Given the description of an element on the screen output the (x, y) to click on. 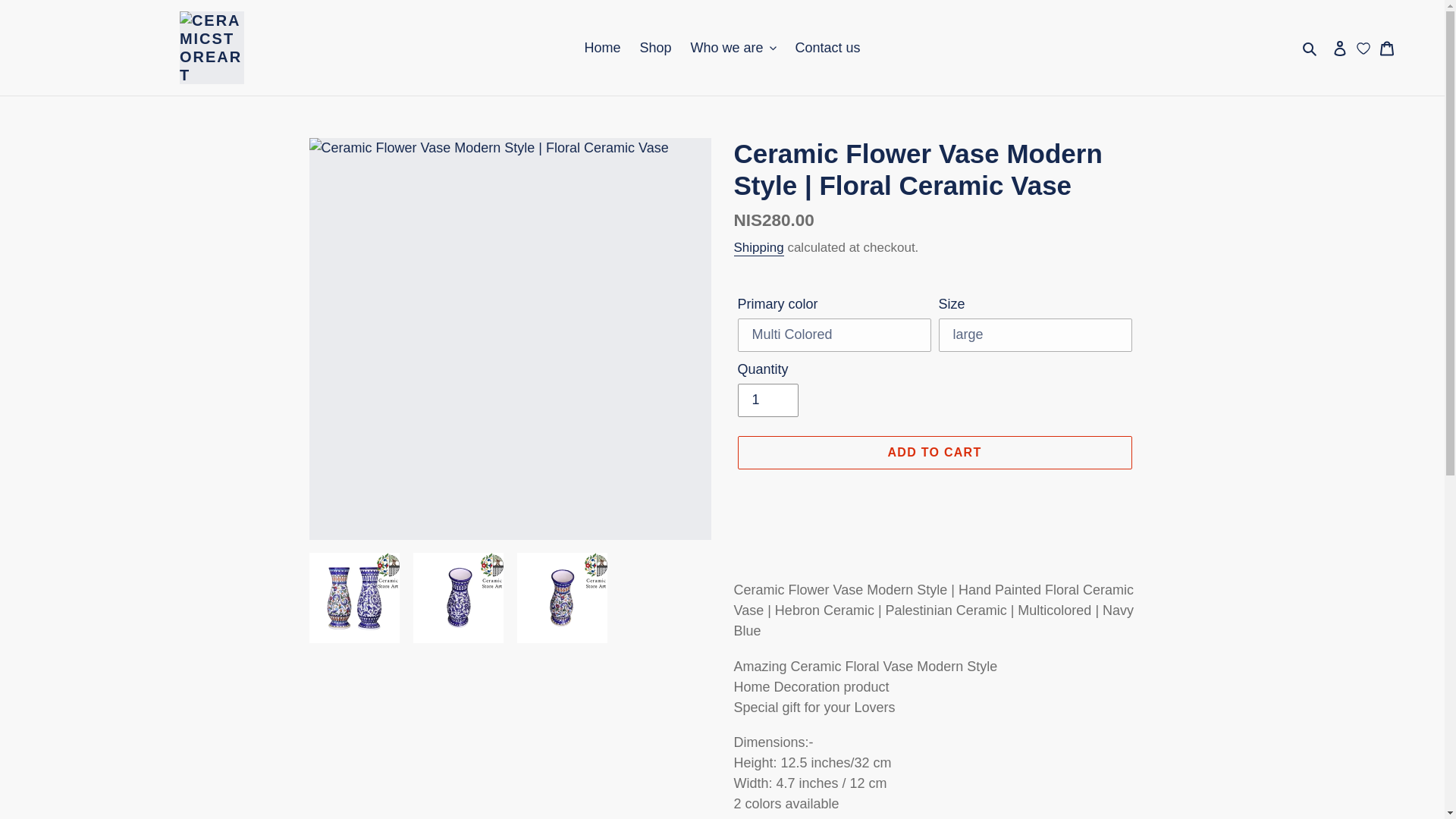
Search (1310, 47)
Log in (1339, 48)
Cart (1387, 48)
Who we are (732, 47)
Home (601, 47)
1 (766, 400)
Contact us (827, 47)
Shipping (758, 248)
ADD TO CART (933, 452)
Shop (654, 47)
